Given the description of an element on the screen output the (x, y) to click on. 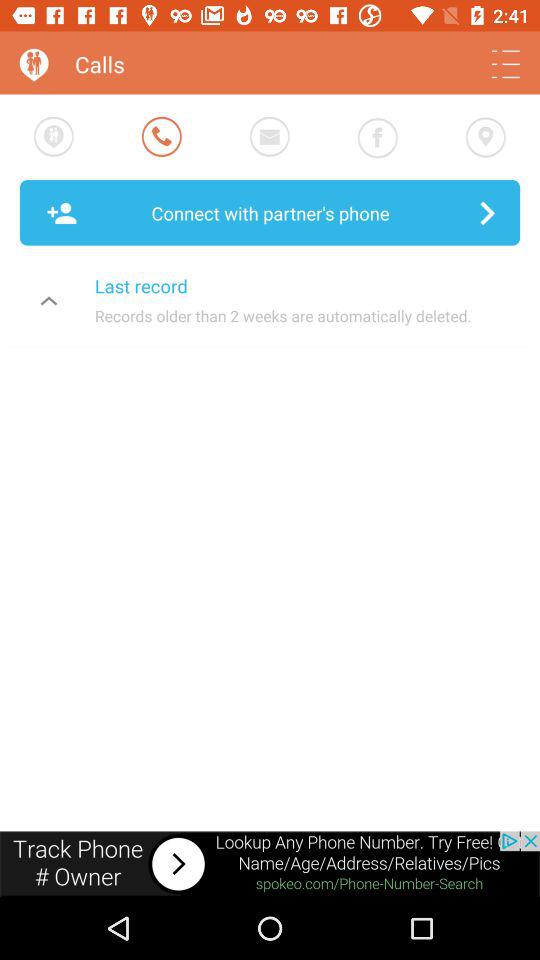
click for list (505, 64)
